Given the description of an element on the screen output the (x, y) to click on. 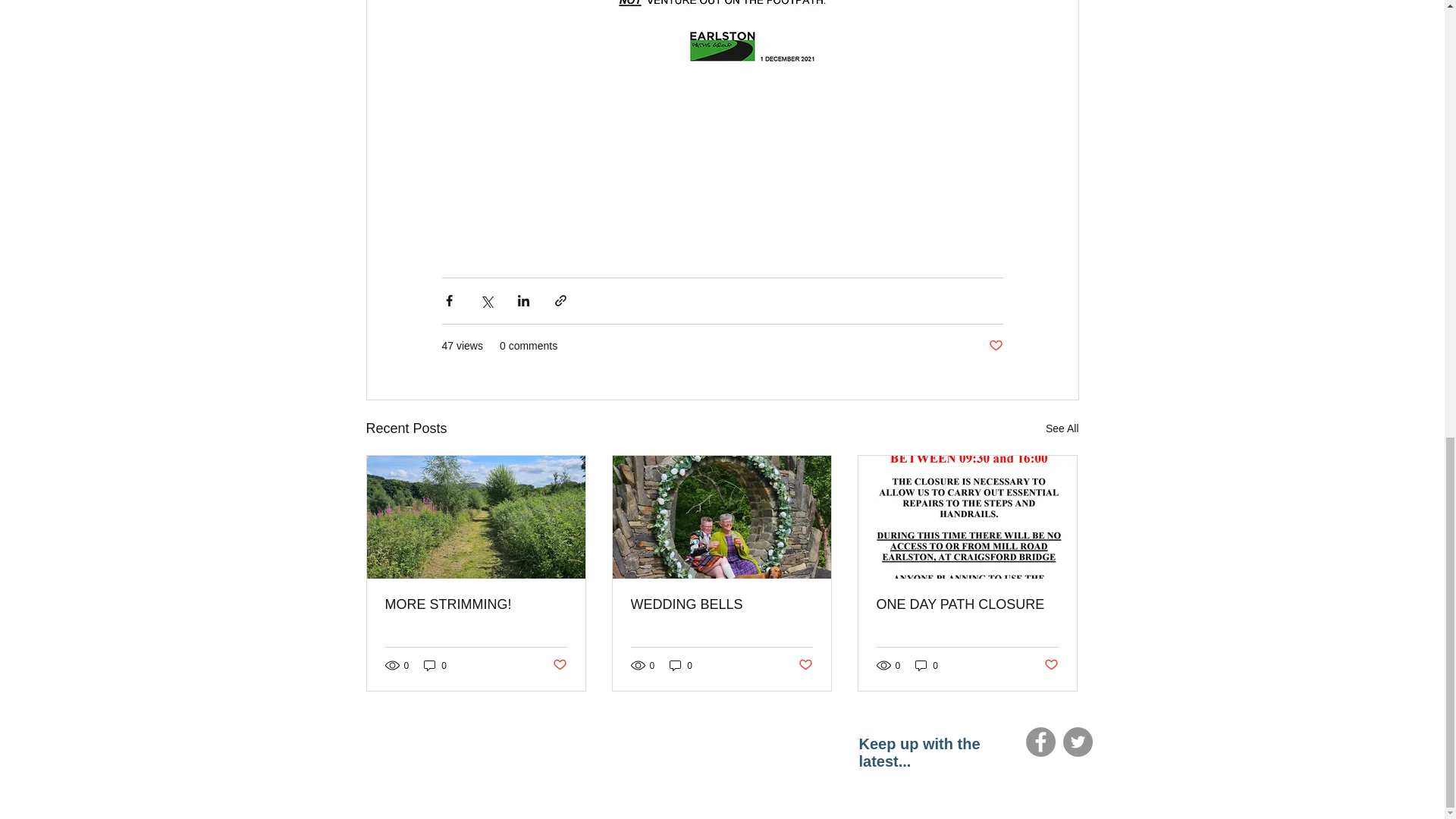
MORE STRIMMING! (476, 604)
Post not marked as liked (1050, 665)
ONE DAY PATH CLOSURE (967, 604)
Post not marked as liked (995, 345)
See All (1061, 428)
0 (926, 665)
0 (681, 665)
WEDDING BELLS (721, 604)
0 (435, 665)
Post not marked as liked (804, 665)
